Given the description of an element on the screen output the (x, y) to click on. 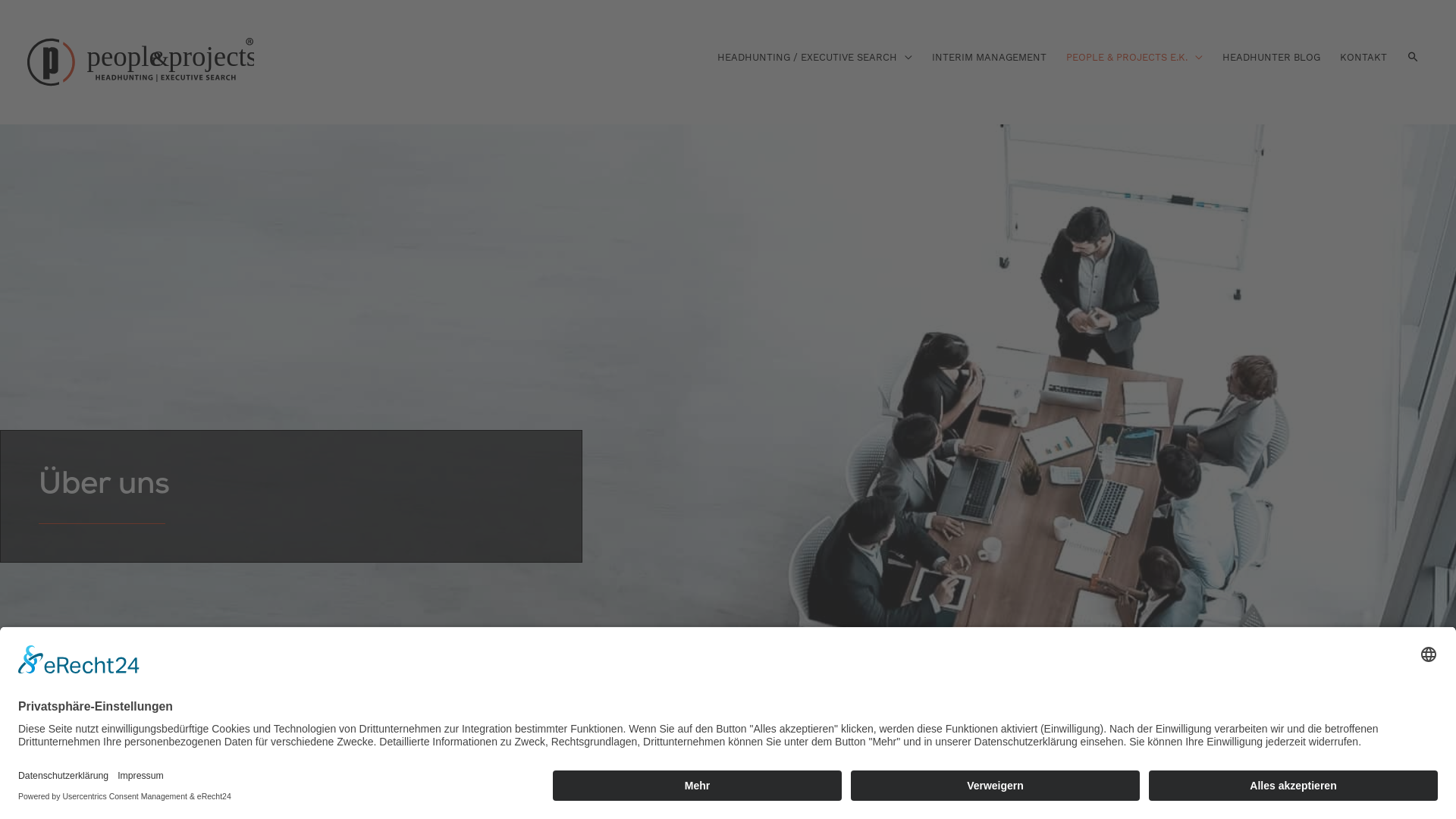
Headhunter Element type: text (47, 97)
HEADHUNTING / EXECUTIVE SEARCH Element type: text (814, 57)
PEOPLE & PROJECTS E.K. Element type: text (1134, 57)
KONTAKT Element type: text (1363, 57)
HEADHUNTER BLOG Element type: text (1271, 57)
INTERIM MANAGEMENT Element type: text (989, 57)
SUCHE Element type: text (1412, 56)
